Given the description of an element on the screen output the (x, y) to click on. 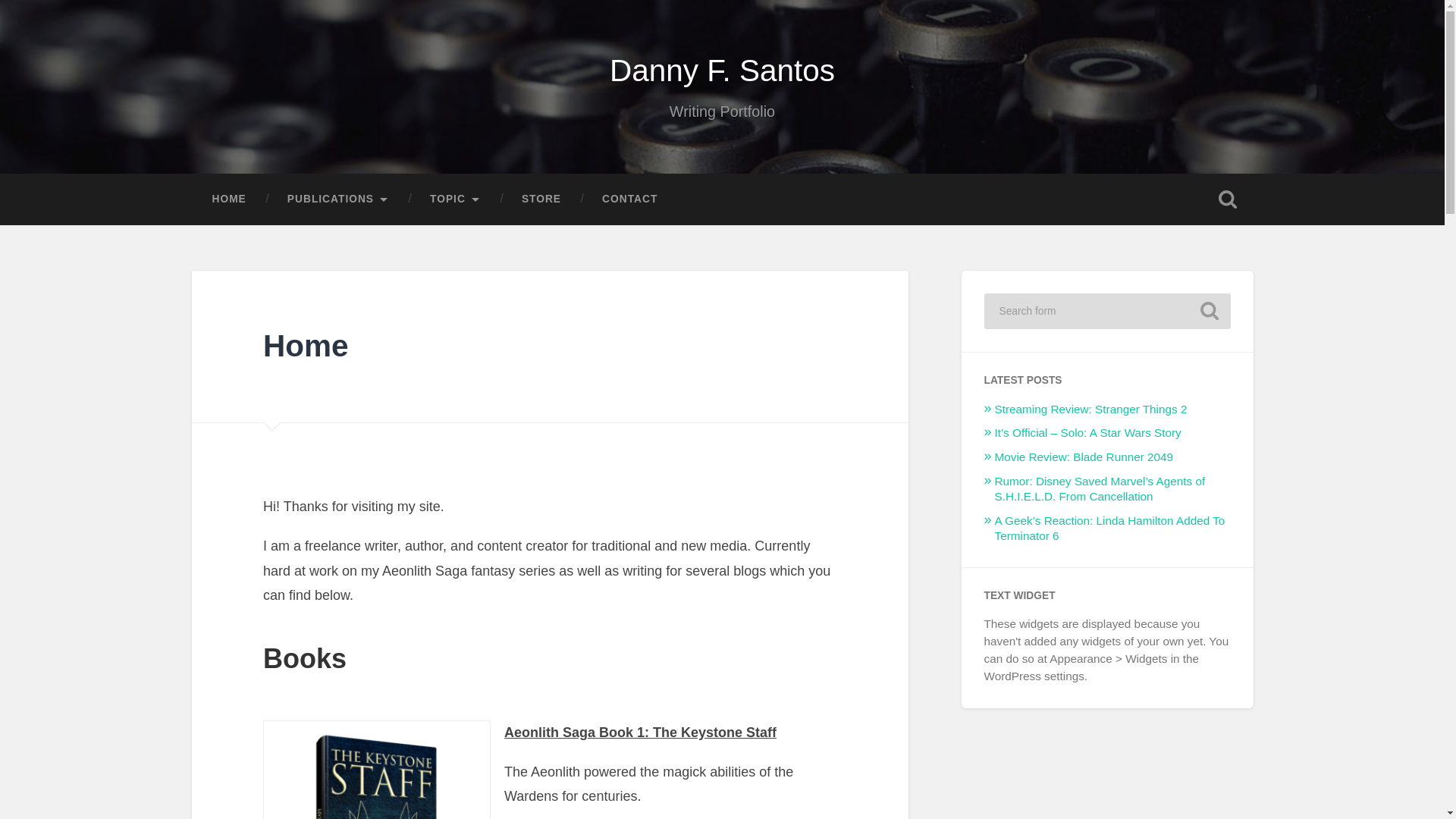
TOPIC (454, 199)
Danny F. Santos (722, 70)
Search (1209, 310)
HOME (228, 199)
Search (1209, 310)
CONTACT (629, 199)
PUBLICATIONS (337, 199)
STORE (540, 199)
